Given the description of an element on the screen output the (x, y) to click on. 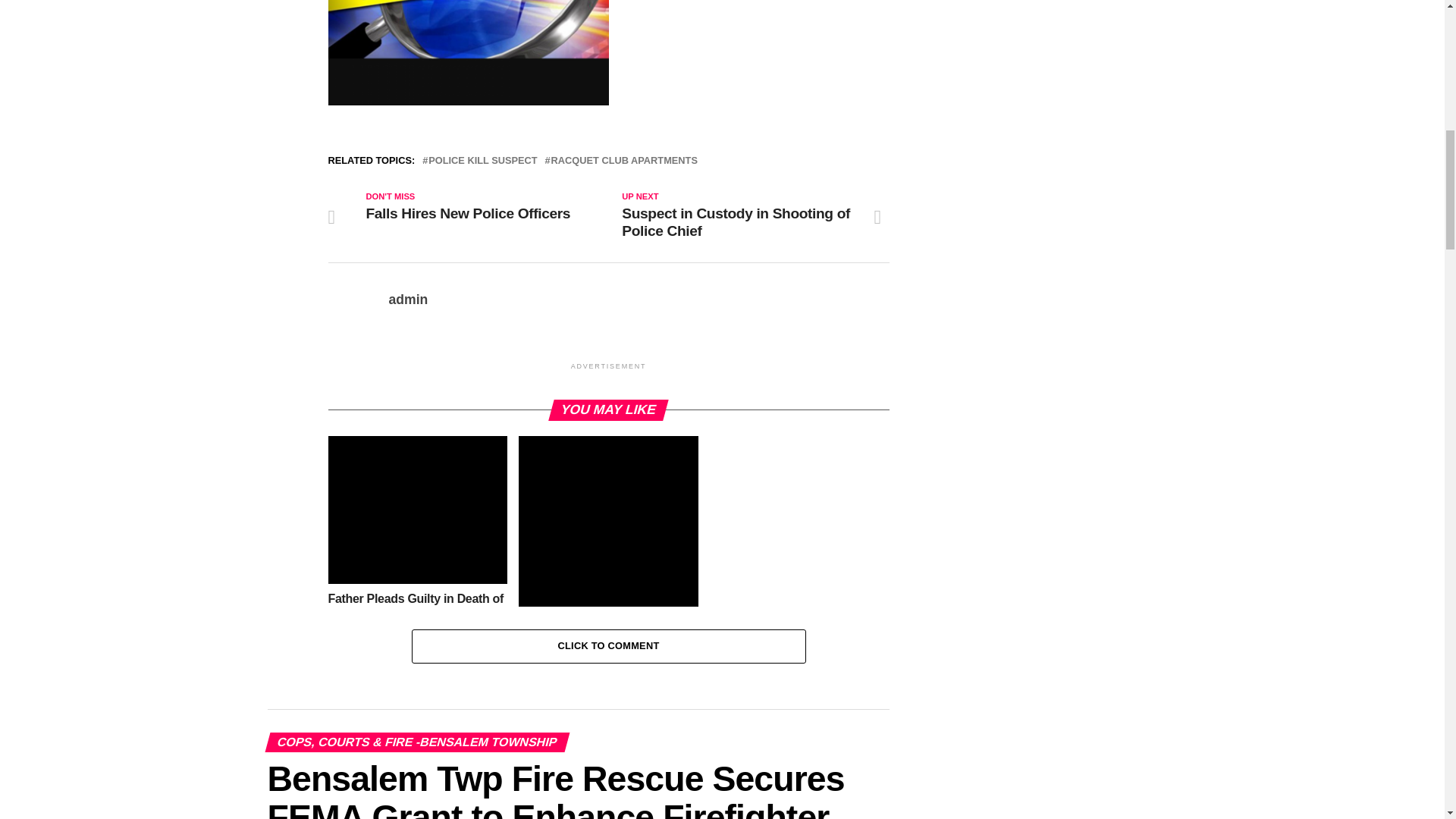
POLICE KILL SUSPECT (482, 161)
Posts by admin (408, 299)
